Given the description of an element on the screen output the (x, y) to click on. 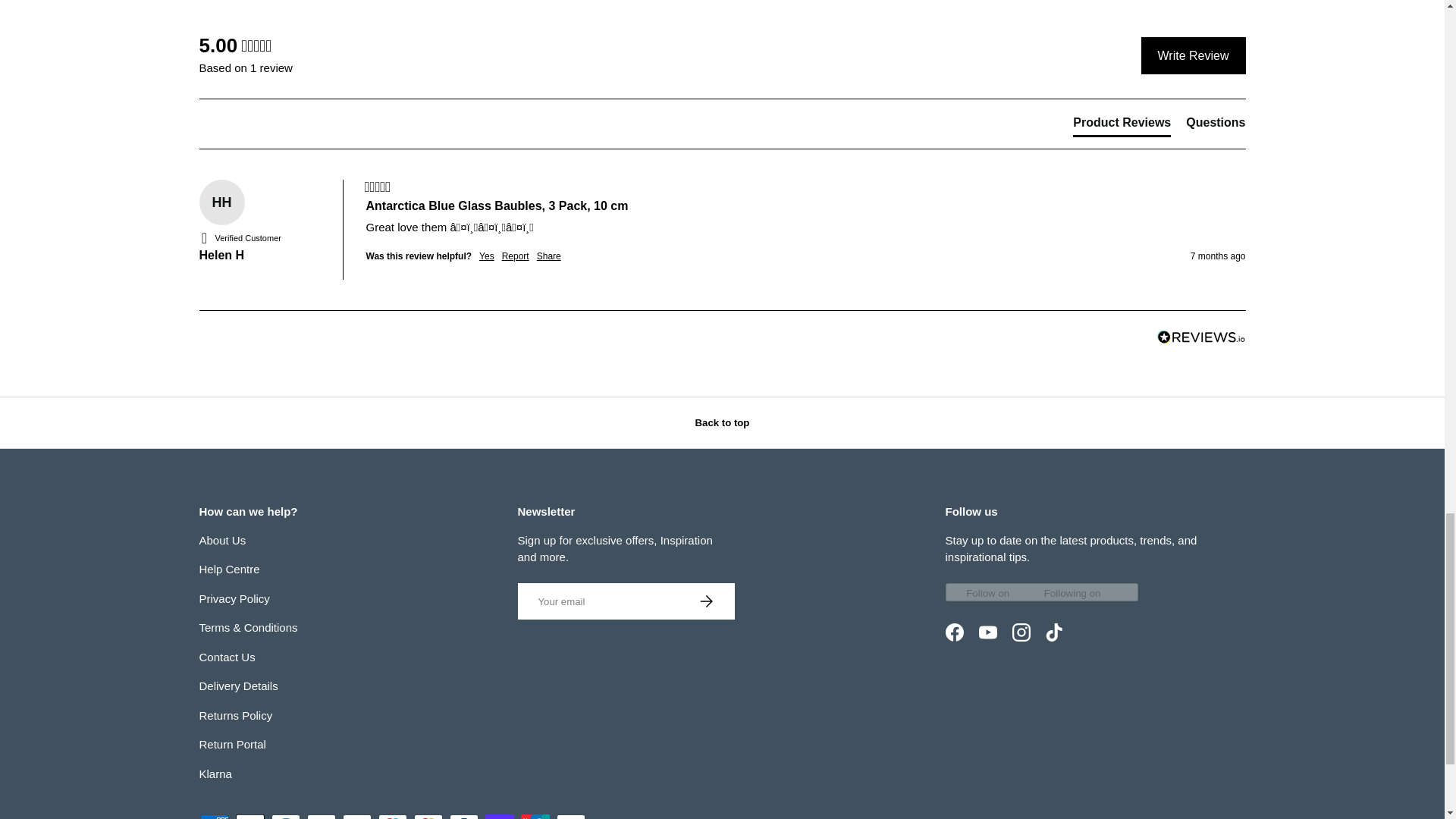
5.00 Stars (255, 45)
5 Stars (377, 186)
We R Christmas on YouTube (987, 632)
We R Christmas on Facebook (954, 632)
We R Christmas on Instagram (1020, 632)
We R Christmas on TikTok (1053, 632)
